Given the description of an element on the screen output the (x, y) to click on. 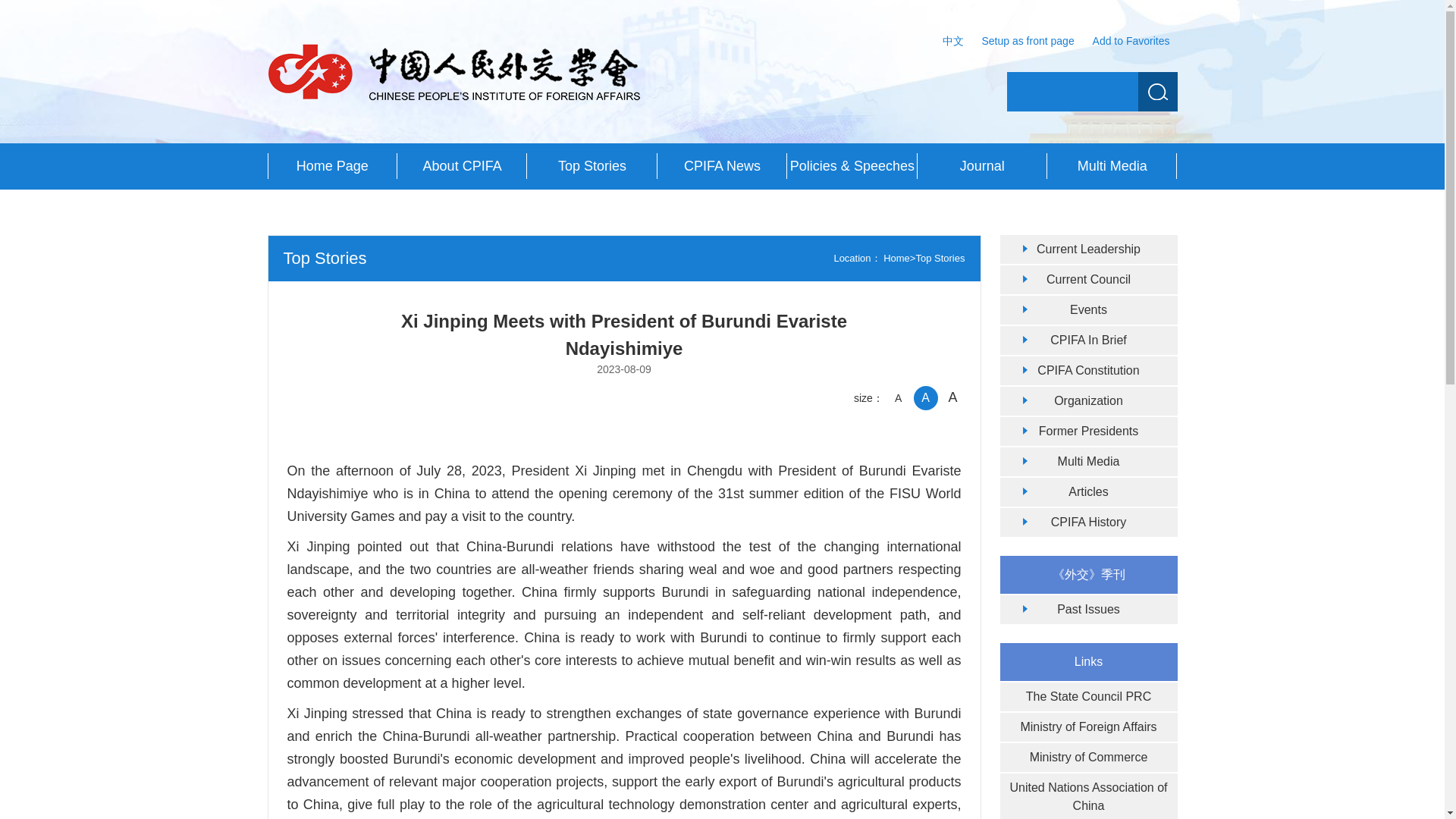
About CPIFA (462, 166)
Add to Favorites (1131, 40)
Journal (981, 166)
Multi Media (1111, 166)
Setup as front page (1027, 40)
Top Stories (591, 166)
CPIFA News (722, 166)
Home Page (331, 166)
